Given the description of an element on the screen output the (x, y) to click on. 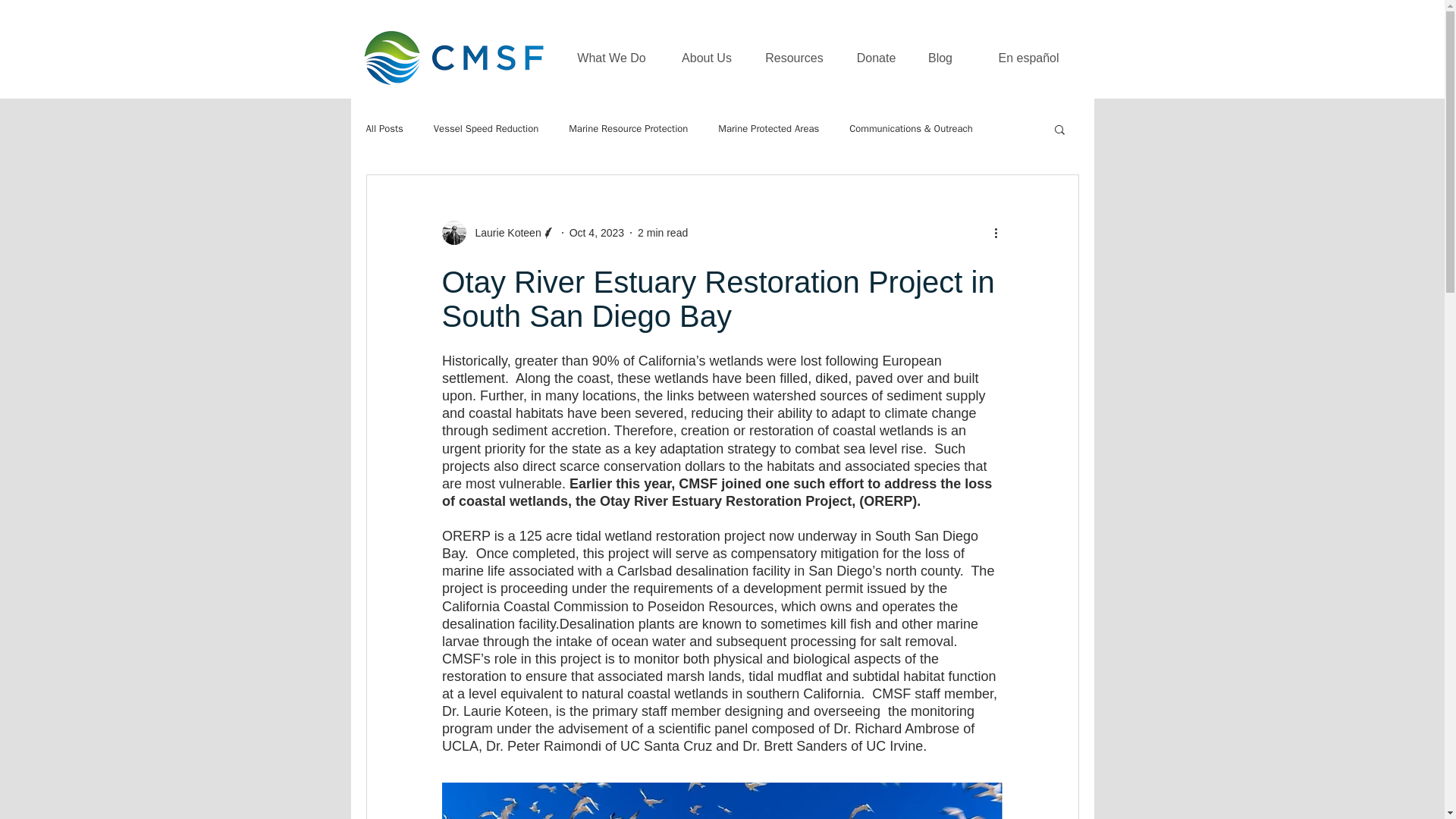
2 min read (662, 232)
Blog (940, 58)
All Posts (384, 128)
Vessel Speed Reduction (485, 128)
Laurie Koteen (502, 232)
Marine Protected Areas (767, 128)
Marine Resource Protection (628, 128)
Laurie Koteen (497, 232)
Oct 4, 2023 (596, 232)
Donate (876, 58)
